Given the description of an element on the screen output the (x, y) to click on. 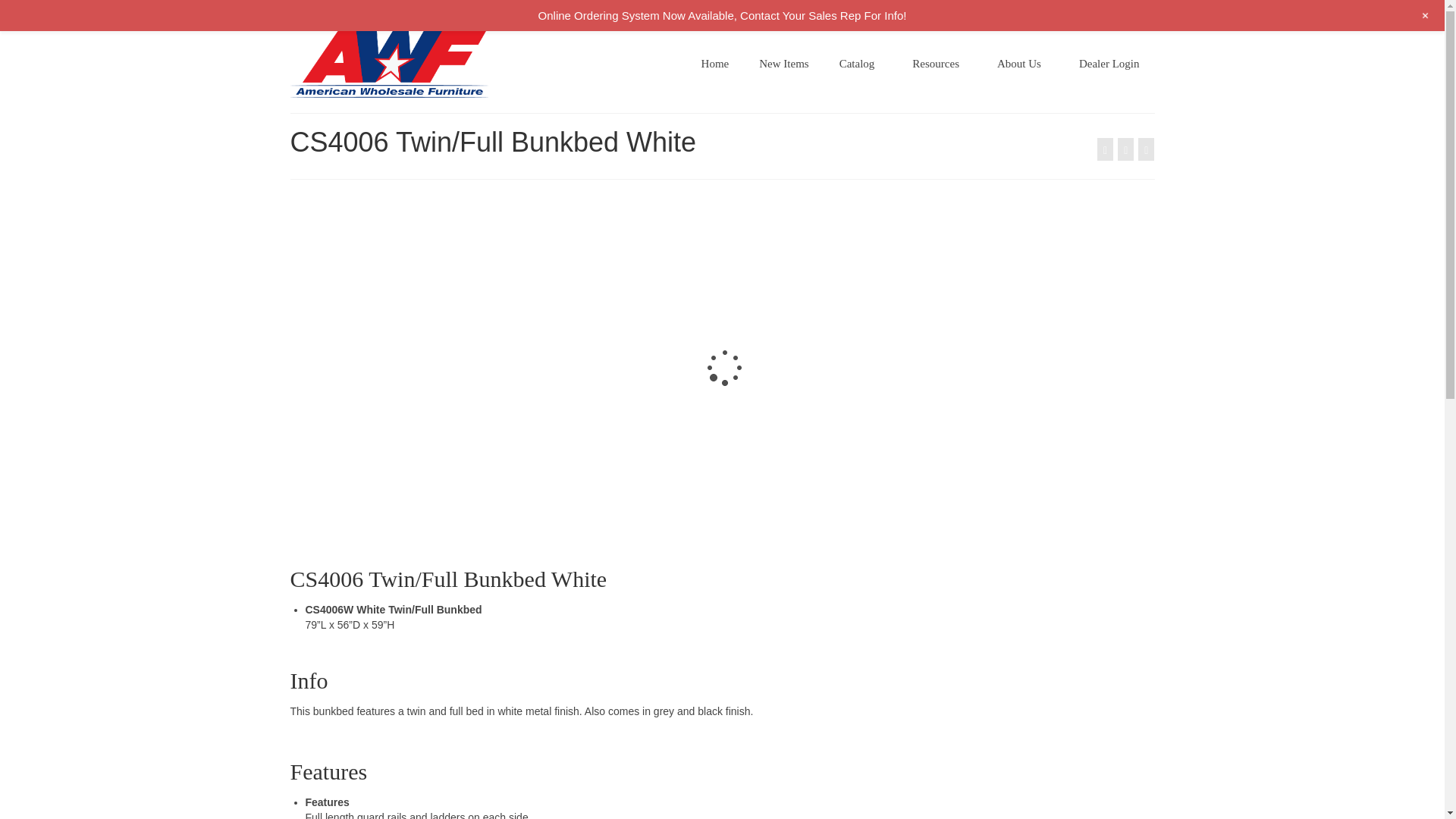
Resources (938, 63)
Dealer Login (1109, 63)
About Us (1022, 63)
AWFCO Catalog Site (425, 63)
New Items (784, 63)
Catalog (861, 63)
